Given the description of an element on the screen output the (x, y) to click on. 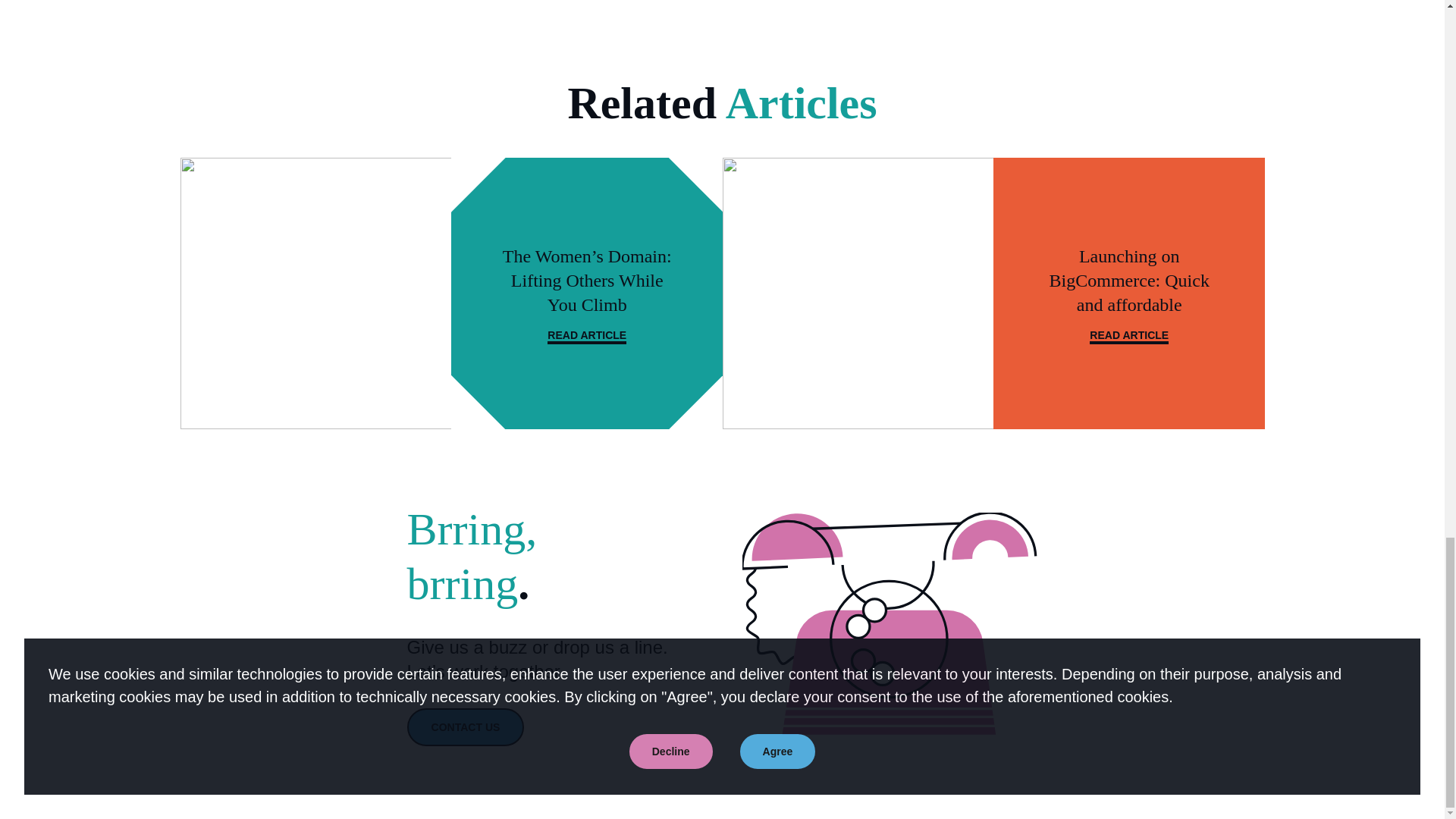
READ ARTICLE (1129, 336)
Contact Us (465, 727)
CONTACT US (465, 727)
READ ARTICLE (586, 336)
Read Article (586, 336)
Read Article (1129, 336)
